Given the description of an element on the screen output the (x, y) to click on. 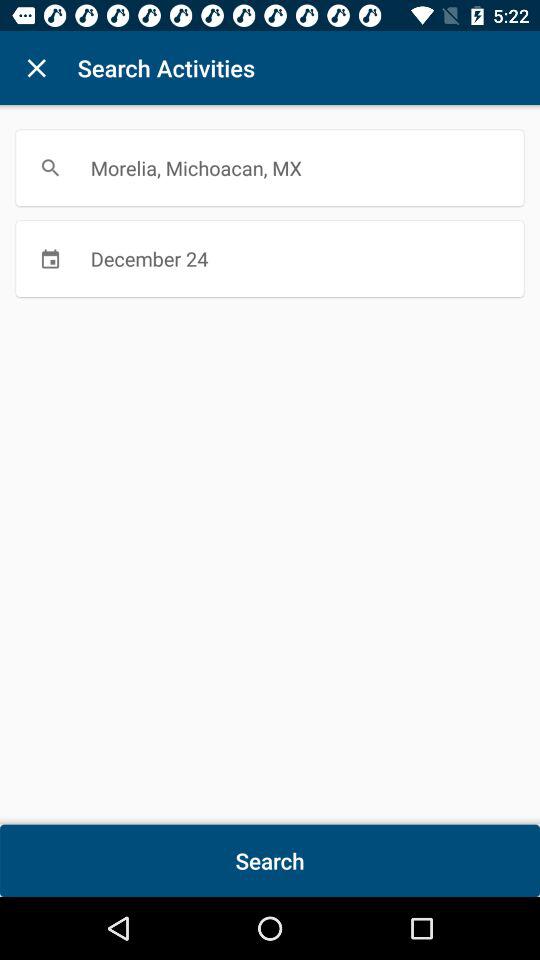
tap icon above december 24 icon (269, 168)
